Given the description of an element on the screen output the (x, y) to click on. 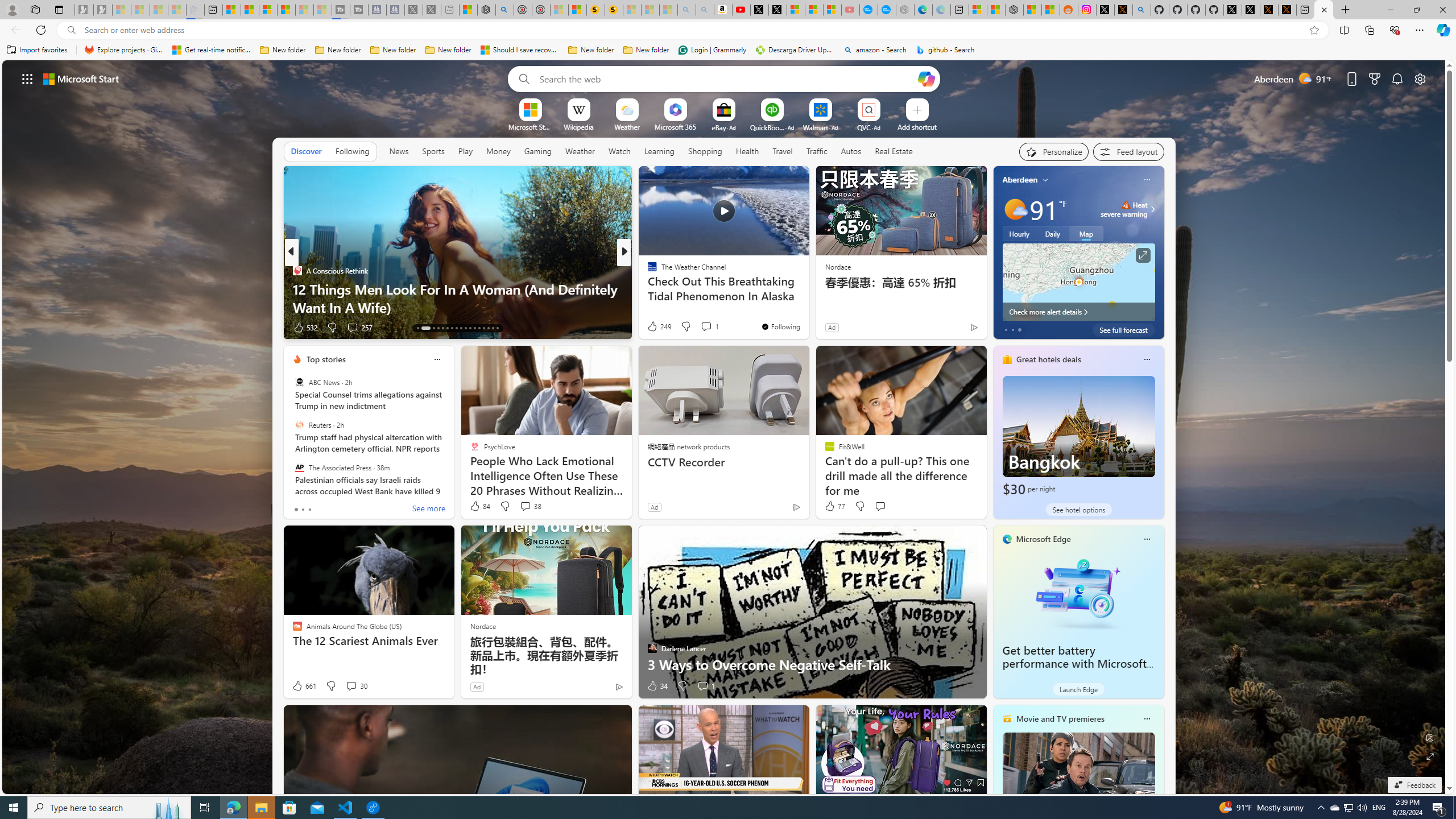
Traffic (816, 151)
tab-1 (302, 509)
You're following The Weather Channel (780, 326)
AutomationID: tab-26 (483, 328)
249 Like (658, 326)
Nature of Home (647, 288)
Launch Edge (1078, 689)
Health (746, 151)
